Given the description of an element on the screen output the (x, y) to click on. 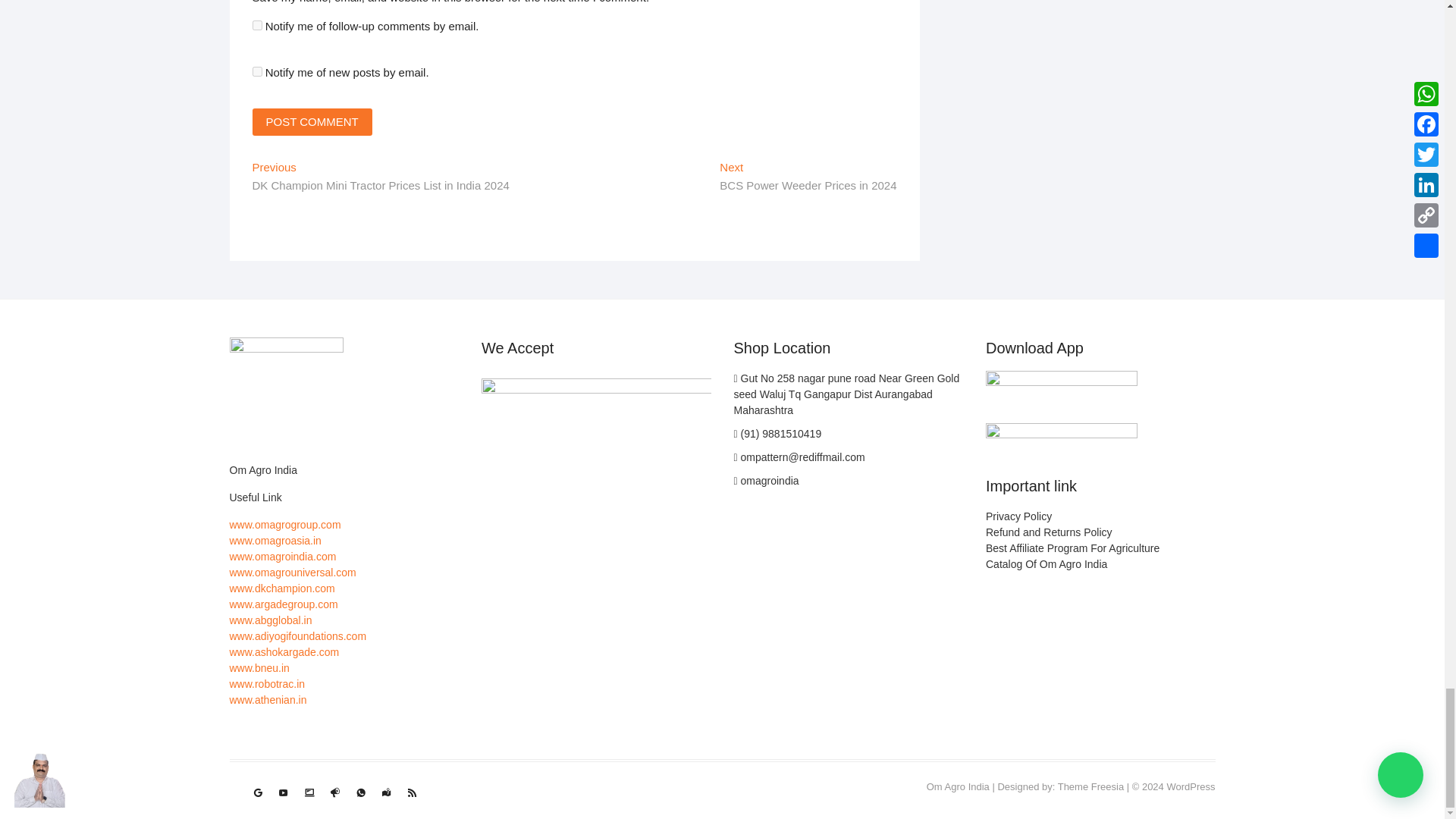
subscribe (256, 25)
Post Comment (311, 121)
subscribe (256, 71)
